Given the description of an element on the screen output the (x, y) to click on. 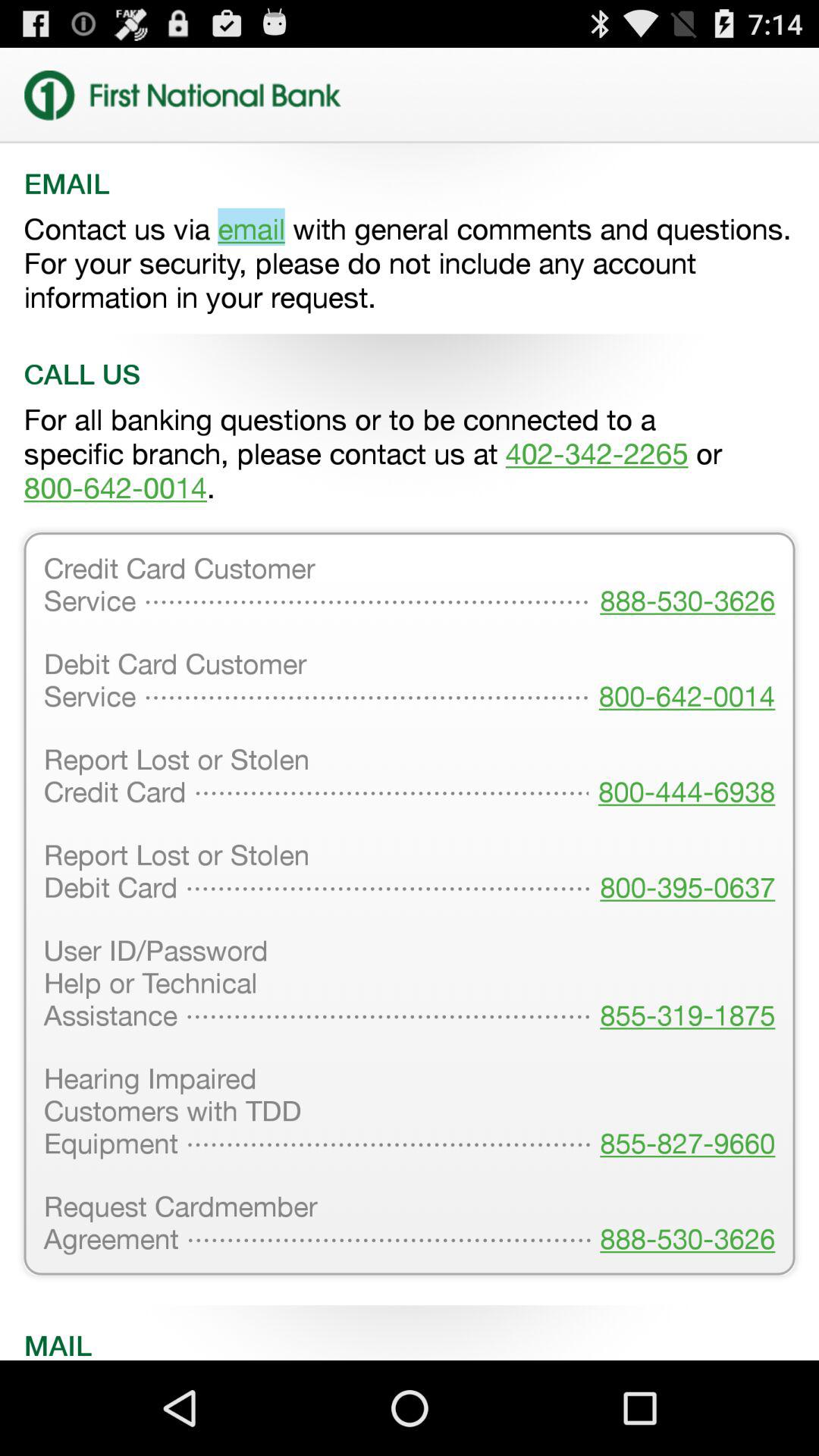
launch item to the right of the debit card customer (681, 777)
